Given the description of an element on the screen output the (x, y) to click on. 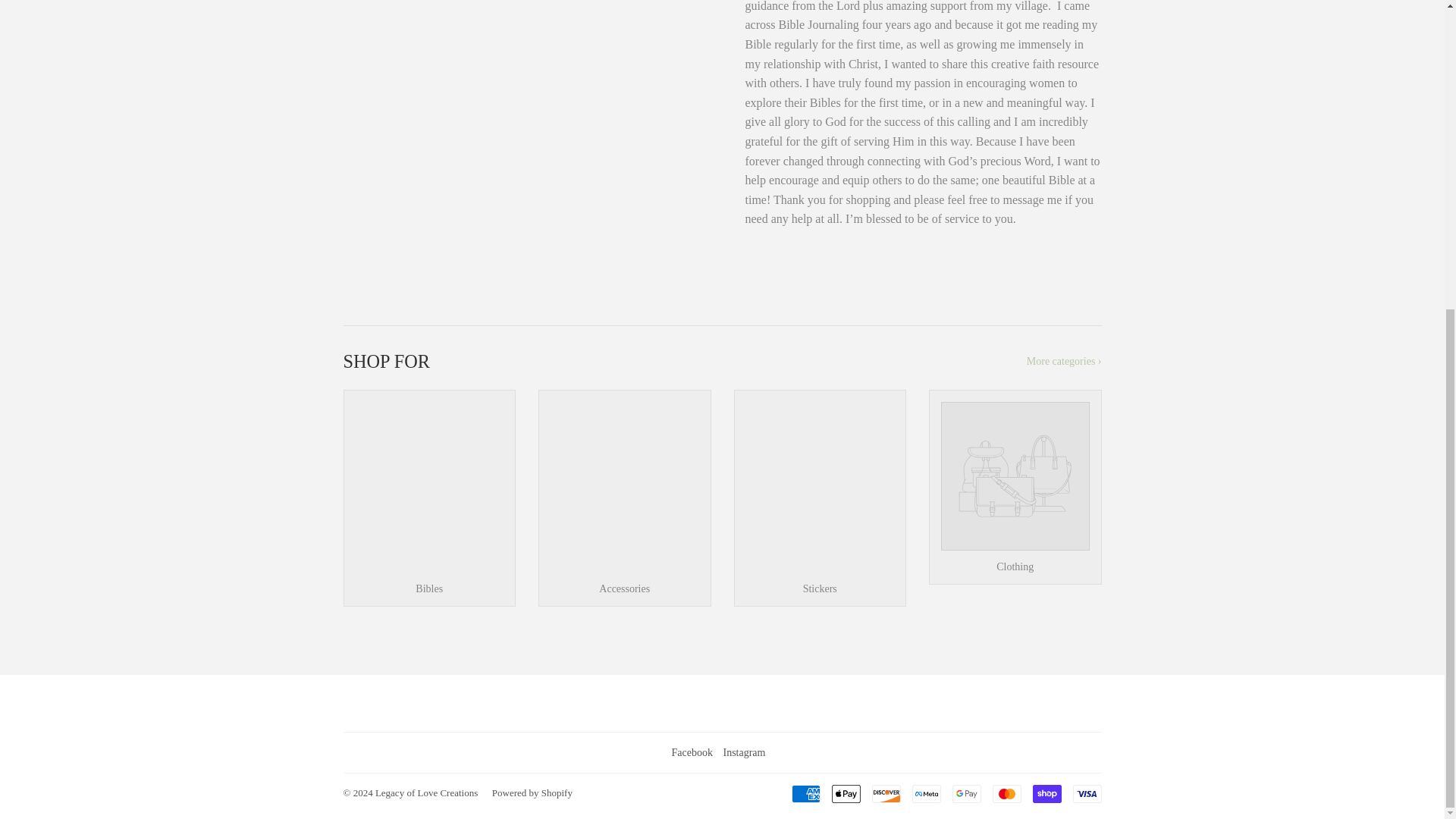
American Express (806, 793)
Meta Pay (925, 793)
Legacy of Love Creations on Instagram (743, 752)
Discover (886, 793)
Google Pay (966, 793)
Apple Pay (845, 793)
Shop Pay (1046, 793)
Visa (1085, 793)
Legacy of Love Creations on Facebook (692, 752)
Mastercard (1005, 793)
